Given the description of an element on the screen output the (x, y) to click on. 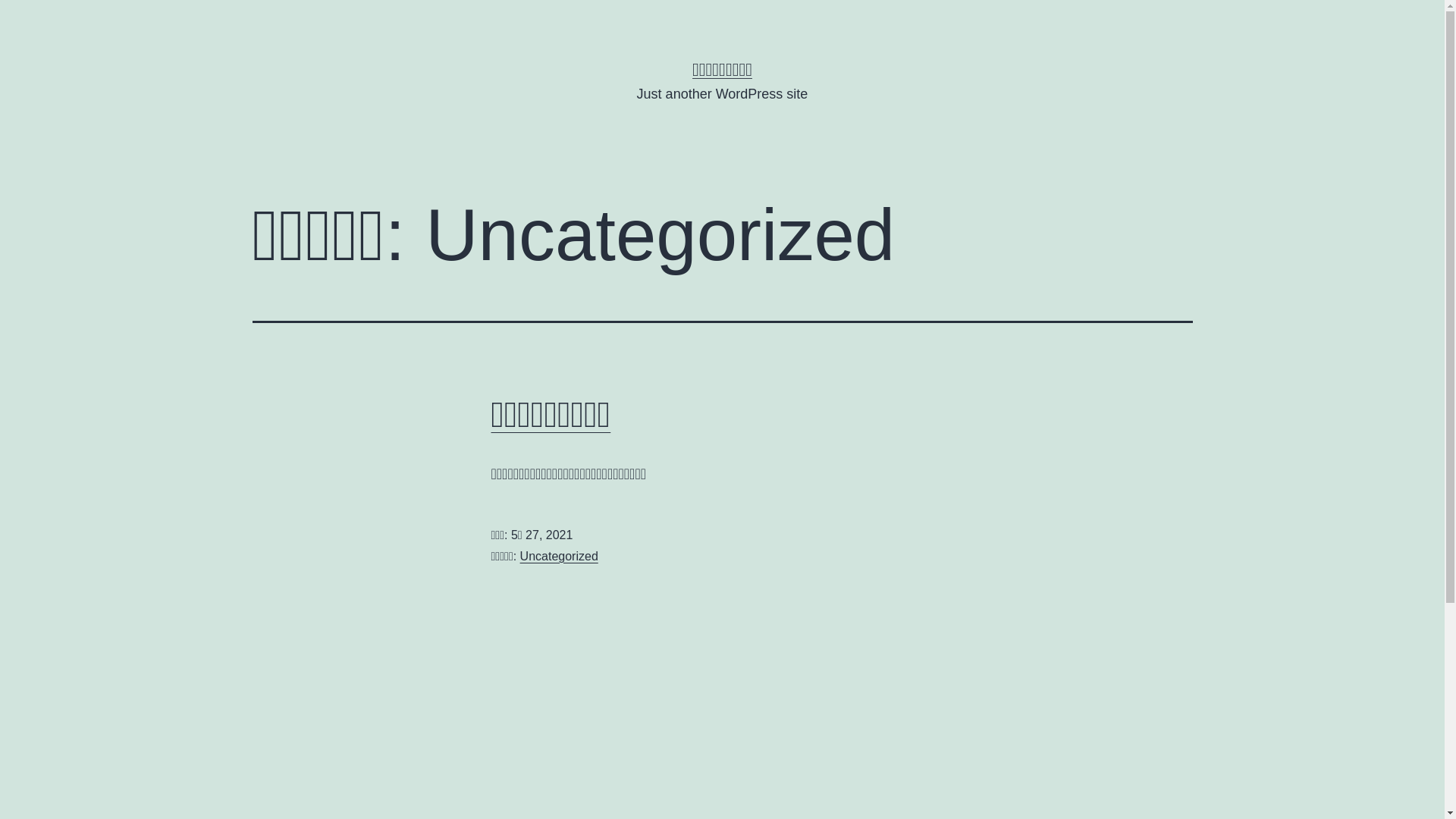
Uncategorized Element type: text (559, 555)
